Given the description of an element on the screen output the (x, y) to click on. 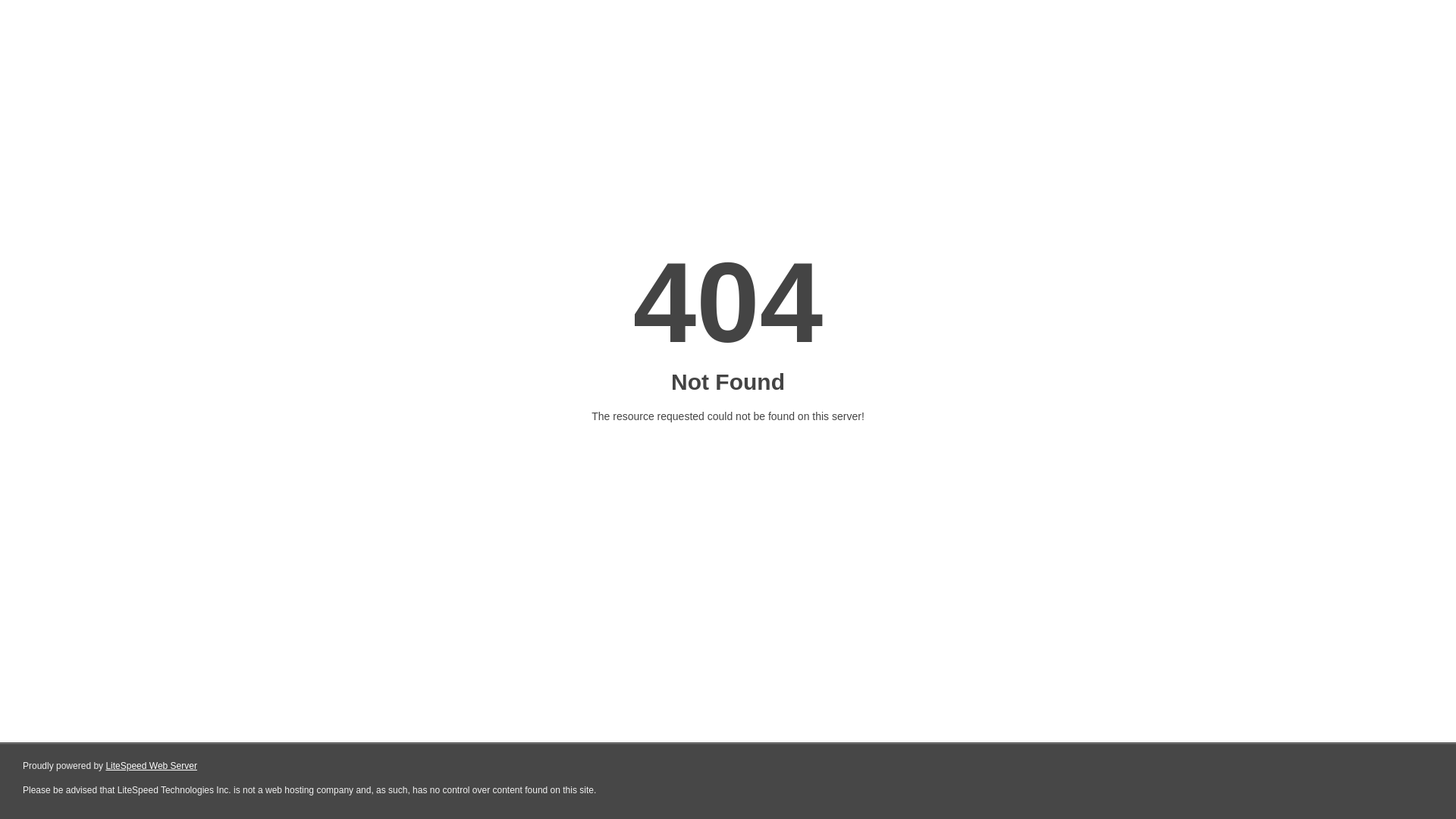
LiteSpeed Web Server Element type: text (151, 765)
